Given the description of an element on the screen output the (x, y) to click on. 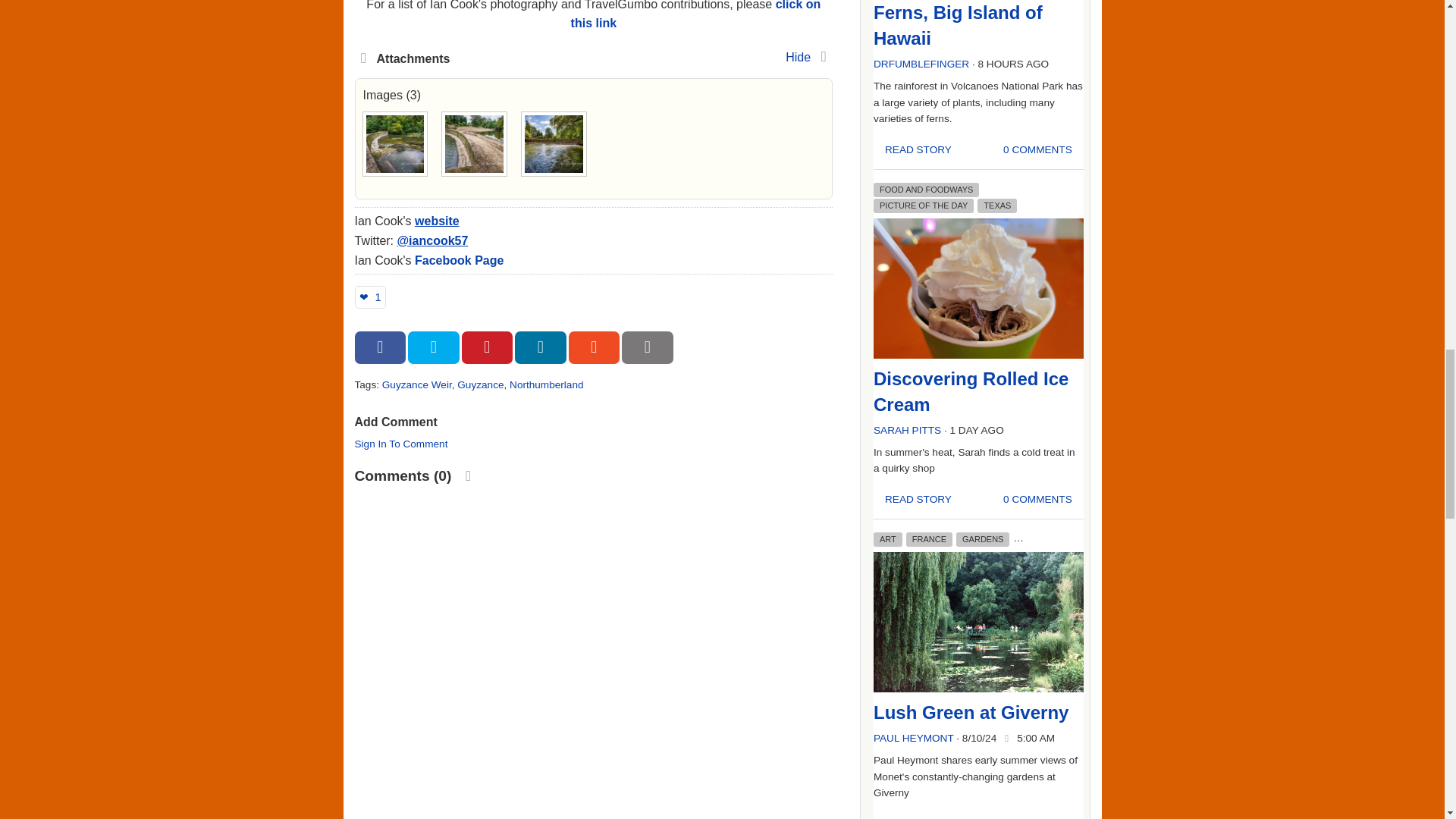
Share on LinkedIn (540, 347)
Guyz 2 (474, 144)
Guyz 1 (394, 144)
Follow to be notified about new comments to this blog post. (468, 475)
Share on Reddit (594, 347)
Copy Link to Blog Post (646, 347)
Share on Pinterest (486, 347)
Share on Twitter (433, 347)
guyz 3 (553, 144)
Share on Facebook (380, 347)
